Given the description of an element on the screen output the (x, y) to click on. 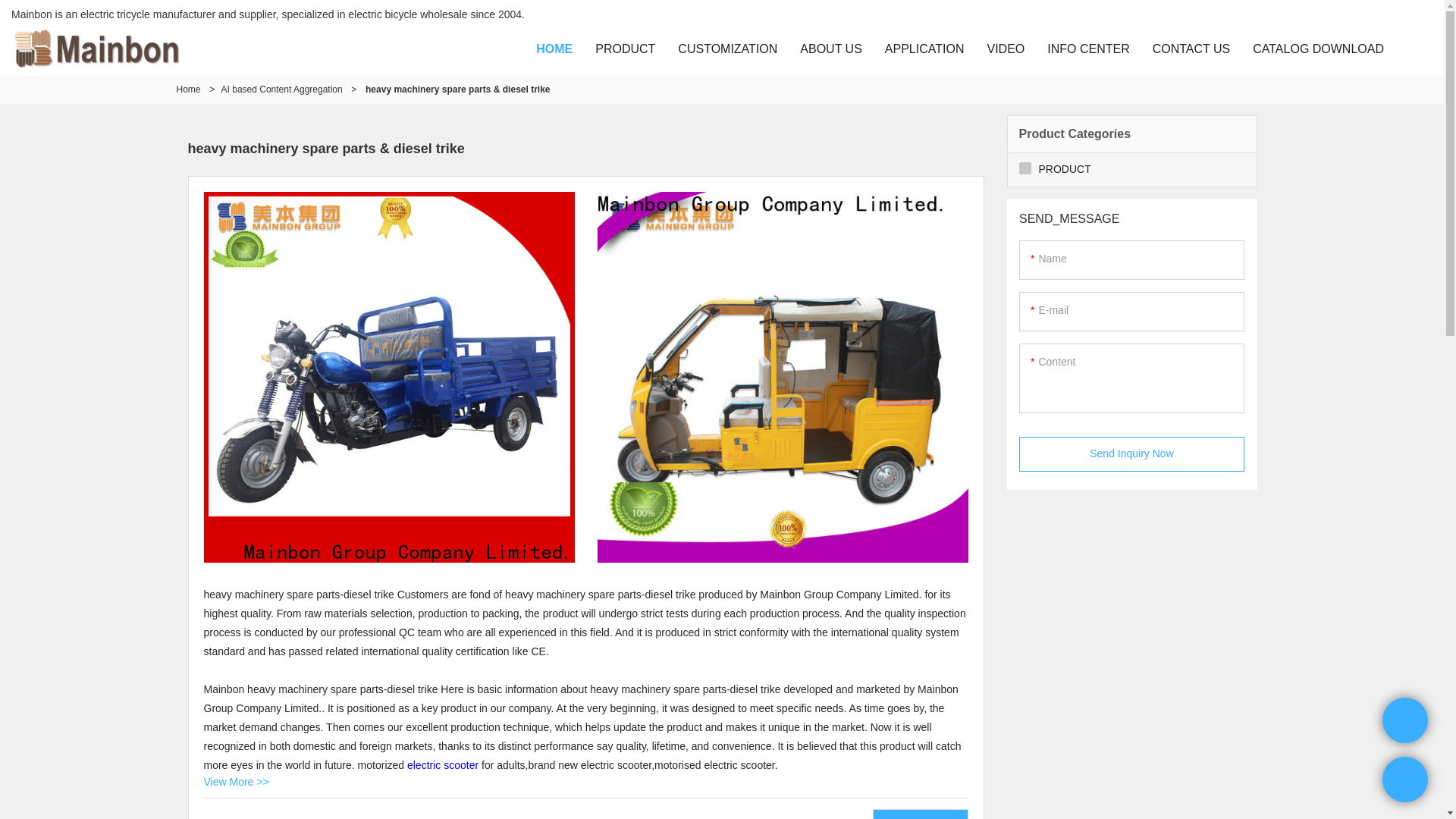
PRODUCT (625, 49)
ABOUT US (830, 49)
INFO CENTER (1087, 49)
CUSTOMIZATION (727, 49)
APPLICATION (924, 49)
